Given the description of an element on the screen output the (x, y) to click on. 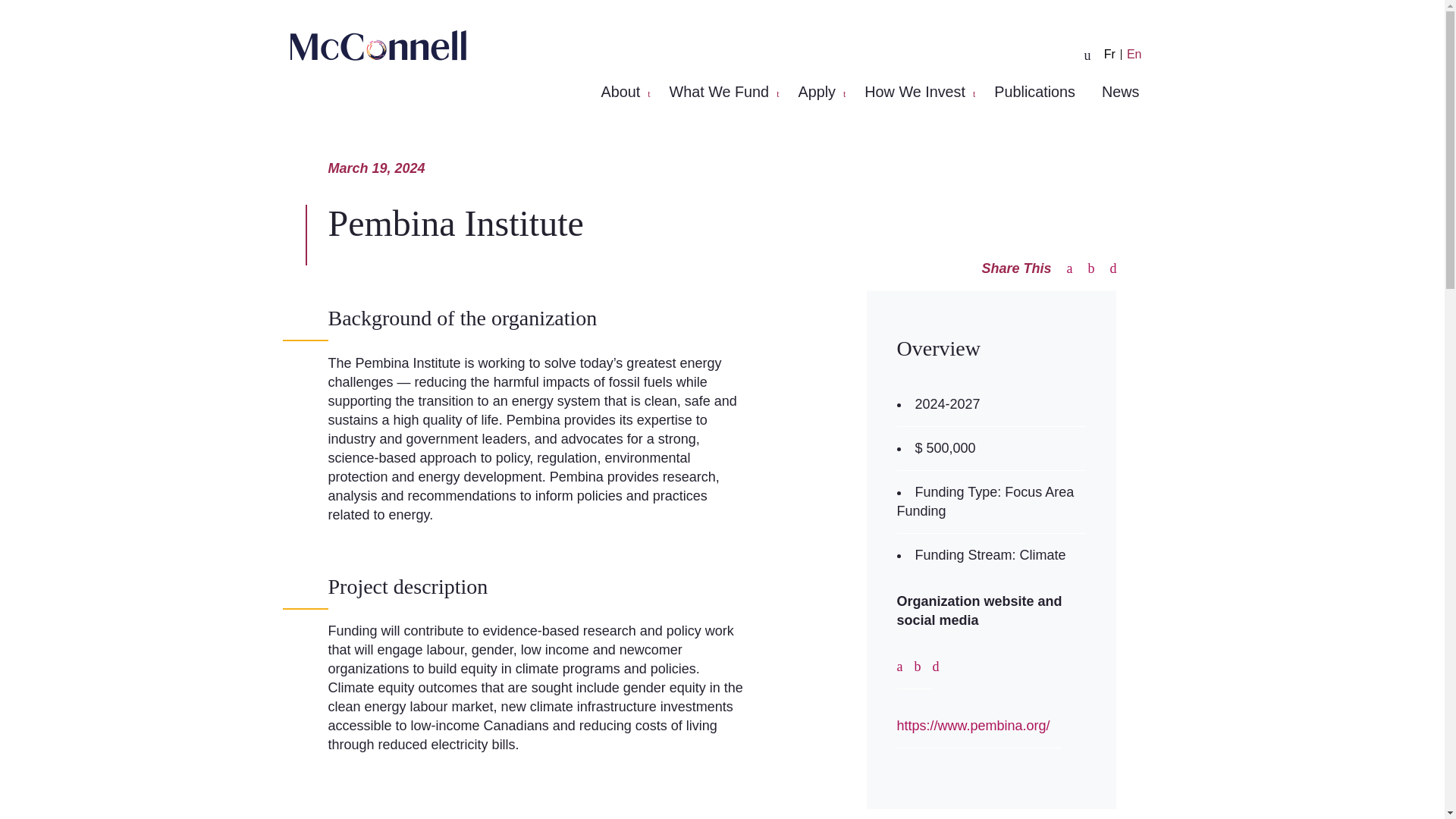
About (623, 91)
Apply (820, 91)
McConnell Foundation (377, 45)
What We Fund (723, 91)
En (1134, 54)
Fr (1110, 54)
